Given the description of an element on the screen output the (x, y) to click on. 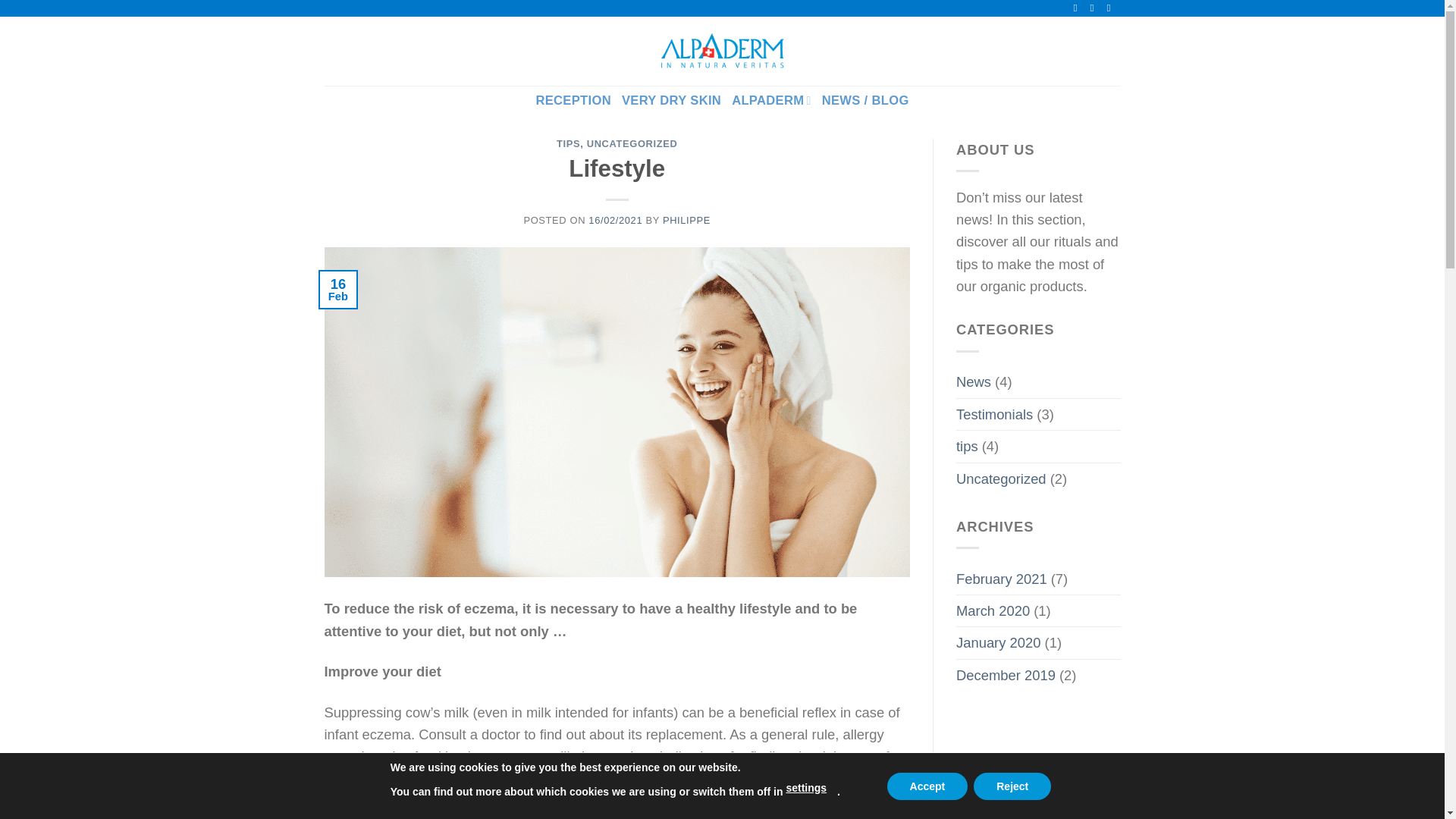
January 2020 (998, 642)
Follow on Facebook (1078, 7)
Testimonials (994, 413)
March 2020 (992, 610)
February 2021 (1001, 578)
VERY DRY SKIN (670, 100)
Alpaderm - Swiss organic skin cares for very dry skins (722, 50)
UNCATEGORIZED (632, 143)
ALPADERM (771, 100)
TIPS (567, 143)
RECEPTION (573, 100)
Send us an email (1094, 7)
PHILIPPE (686, 220)
December 2019 (1005, 675)
Uncategorized (1001, 478)
